Given the description of an element on the screen output the (x, y) to click on. 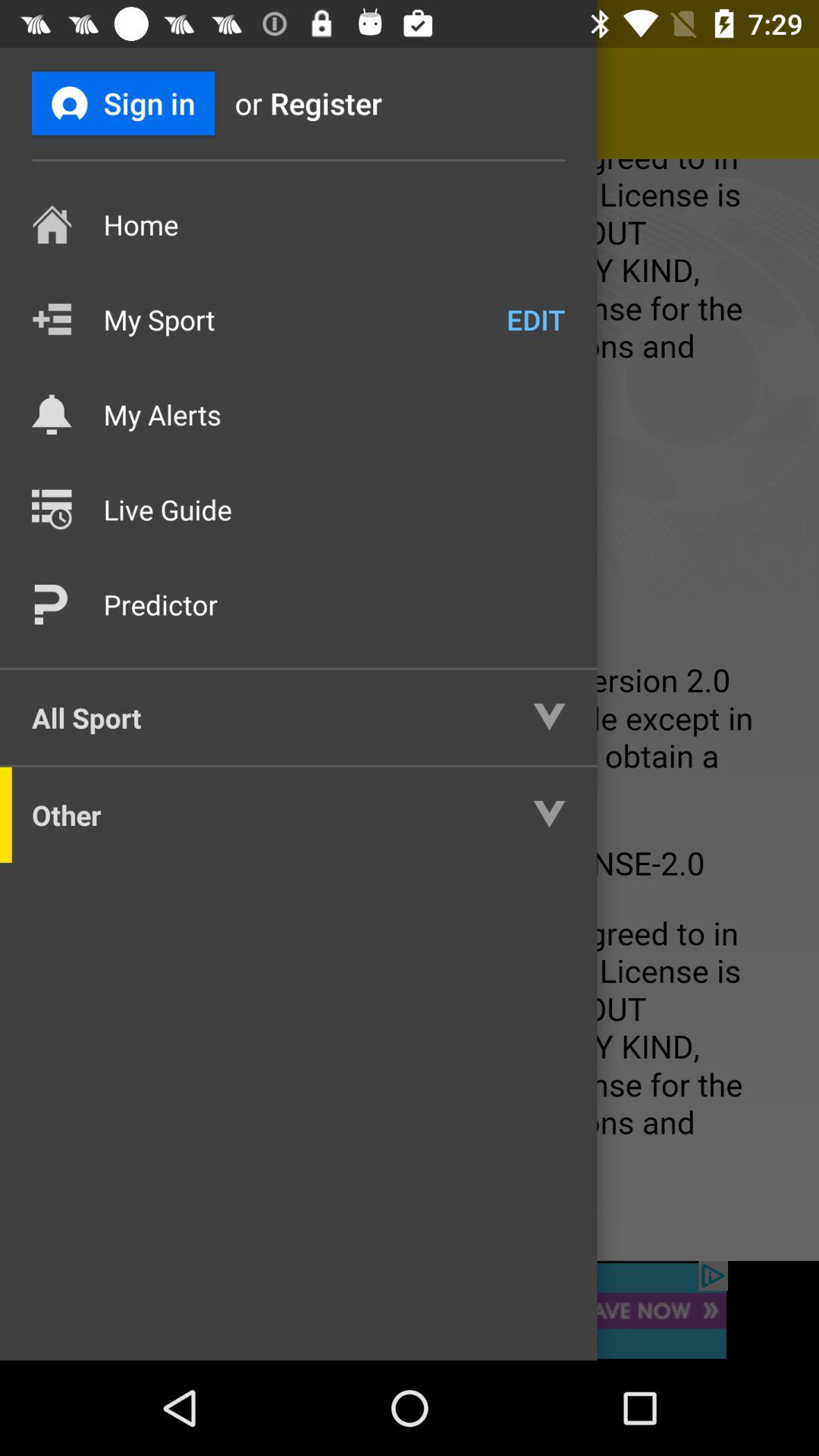
tap icon above the my alerts icon (535, 319)
